Given the description of an element on the screen output the (x, y) to click on. 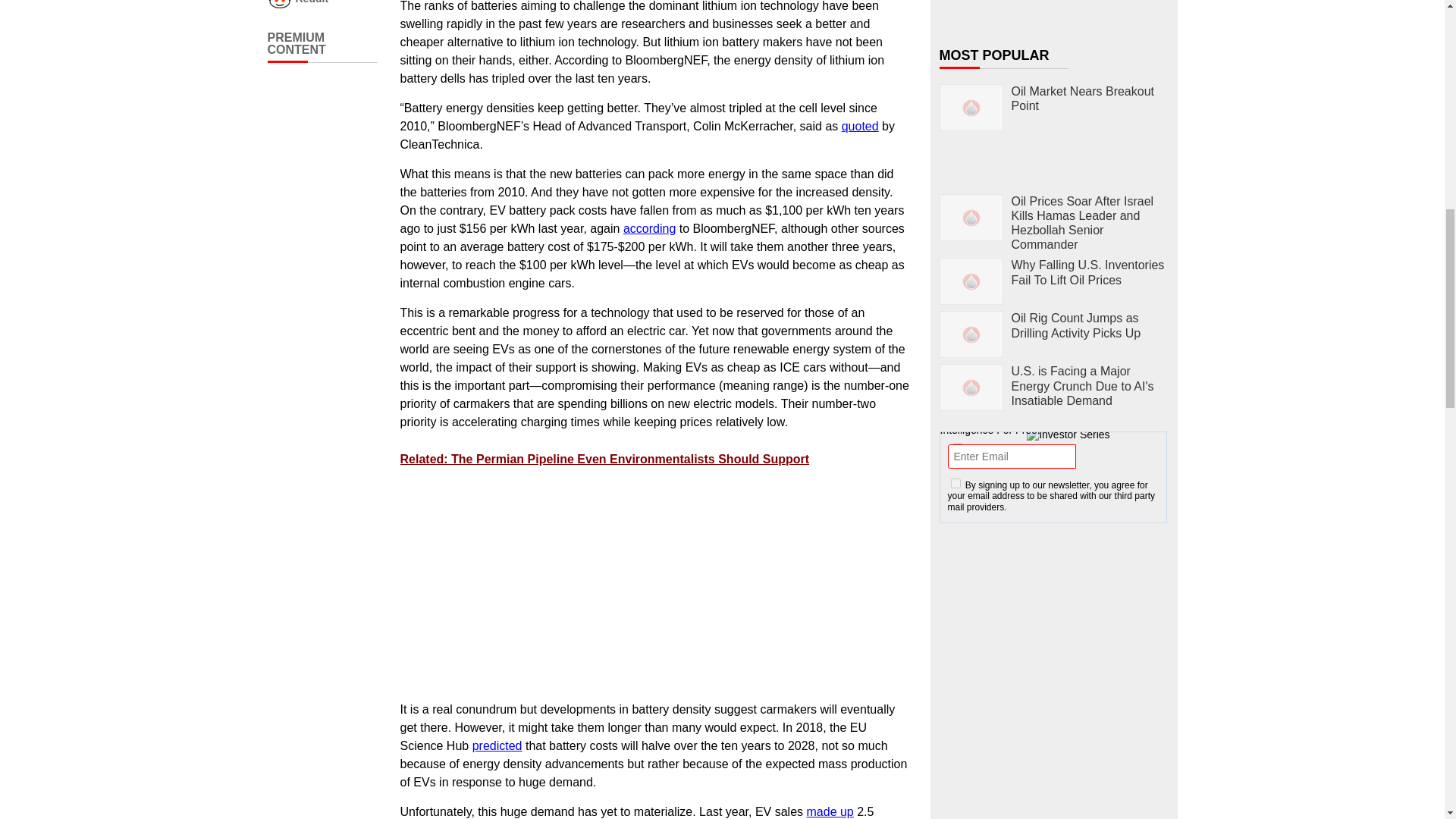
1 (955, 483)
